Given the description of an element on the screen output the (x, y) to click on. 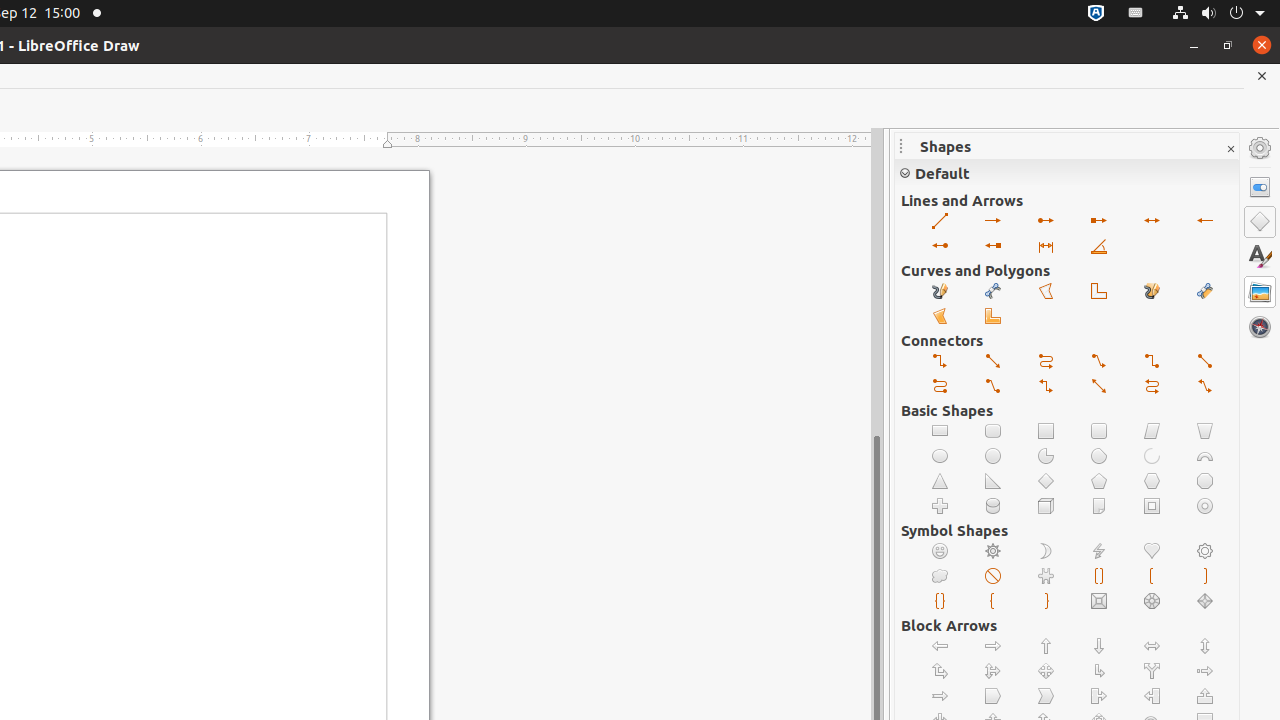
Polygon, Filled Element type: list-item (940, 316)
Rectangle, Rounded Element type: list-item (993, 431)
Up and Right Arrow Element type: list-item (940, 671)
Line with Arrow/Circle Element type: list-item (940, 246)
Curve Element type: list-item (993, 291)
